Given the description of an element on the screen output the (x, y) to click on. 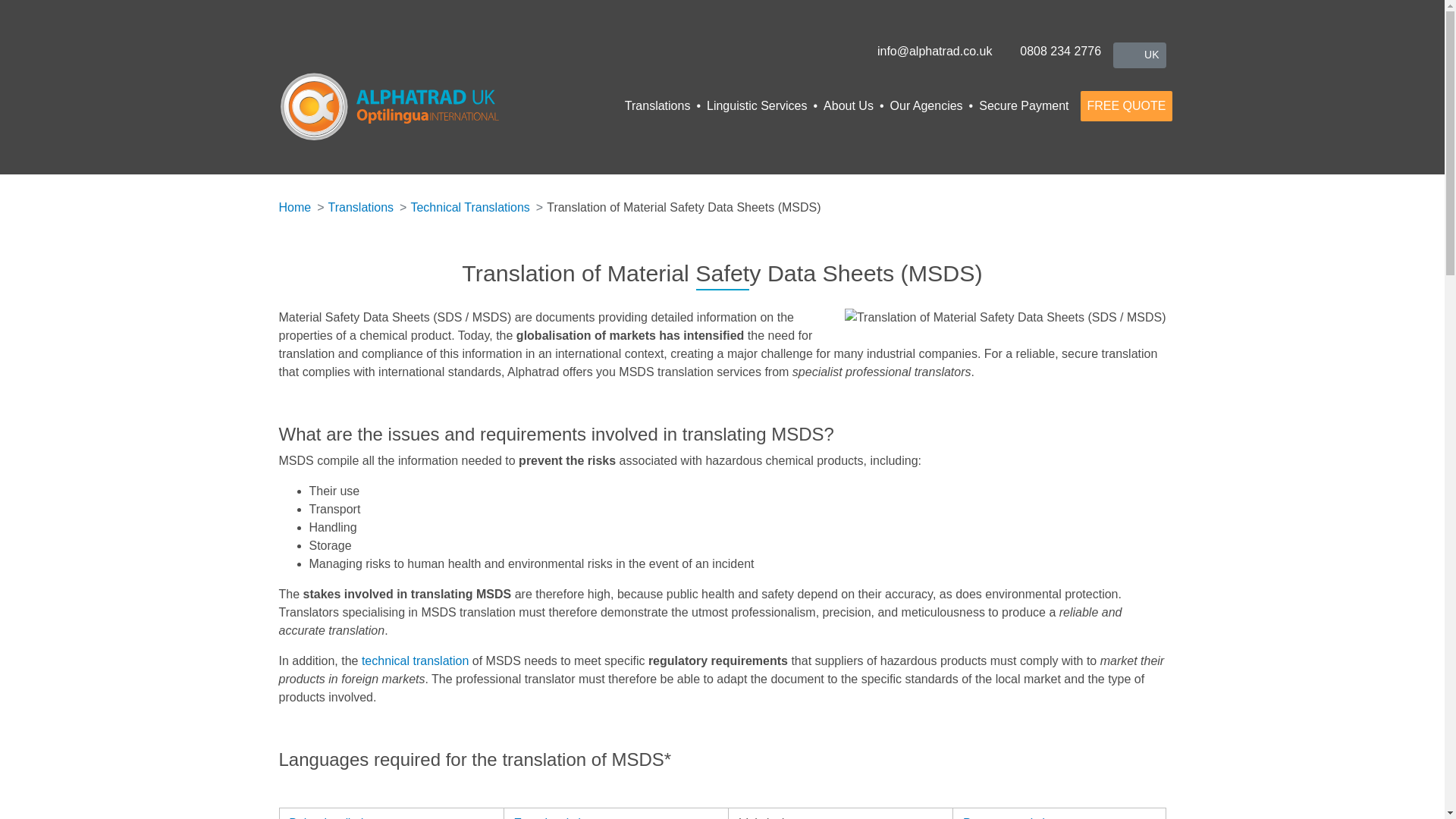
Home (407, 105)
technical translation (414, 660)
0808 234 2776 (1051, 51)
About Us (849, 105)
UK (1139, 54)
Technical Translations (478, 208)
FREE QUOTE (1126, 105)
Our Agencies (928, 105)
Other countries (1139, 54)
Technical Translation Services (414, 660)
Linguistic Services (758, 105)
Translations (369, 208)
Home (304, 208)
Secure Payment (1020, 105)
